Given the description of an element on the screen output the (x, y) to click on. 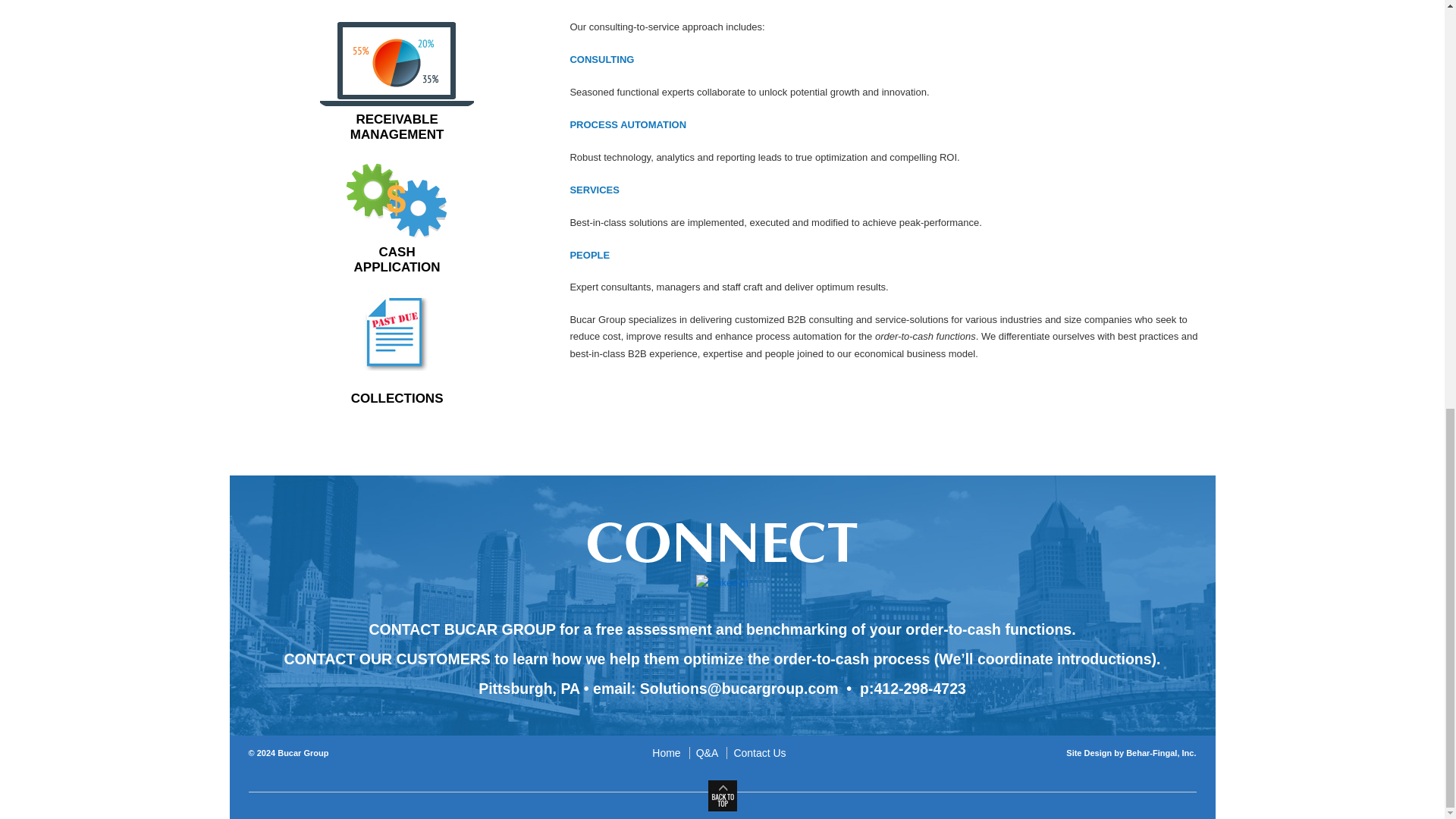
Home (668, 752)
Contact Us (397, 82)
Bucar Group (396, 219)
Bucar Group (759, 752)
Behar-Fingal, Inc. (302, 752)
BILLING (302, 752)
